Given the description of an element on the screen output the (x, y) to click on. 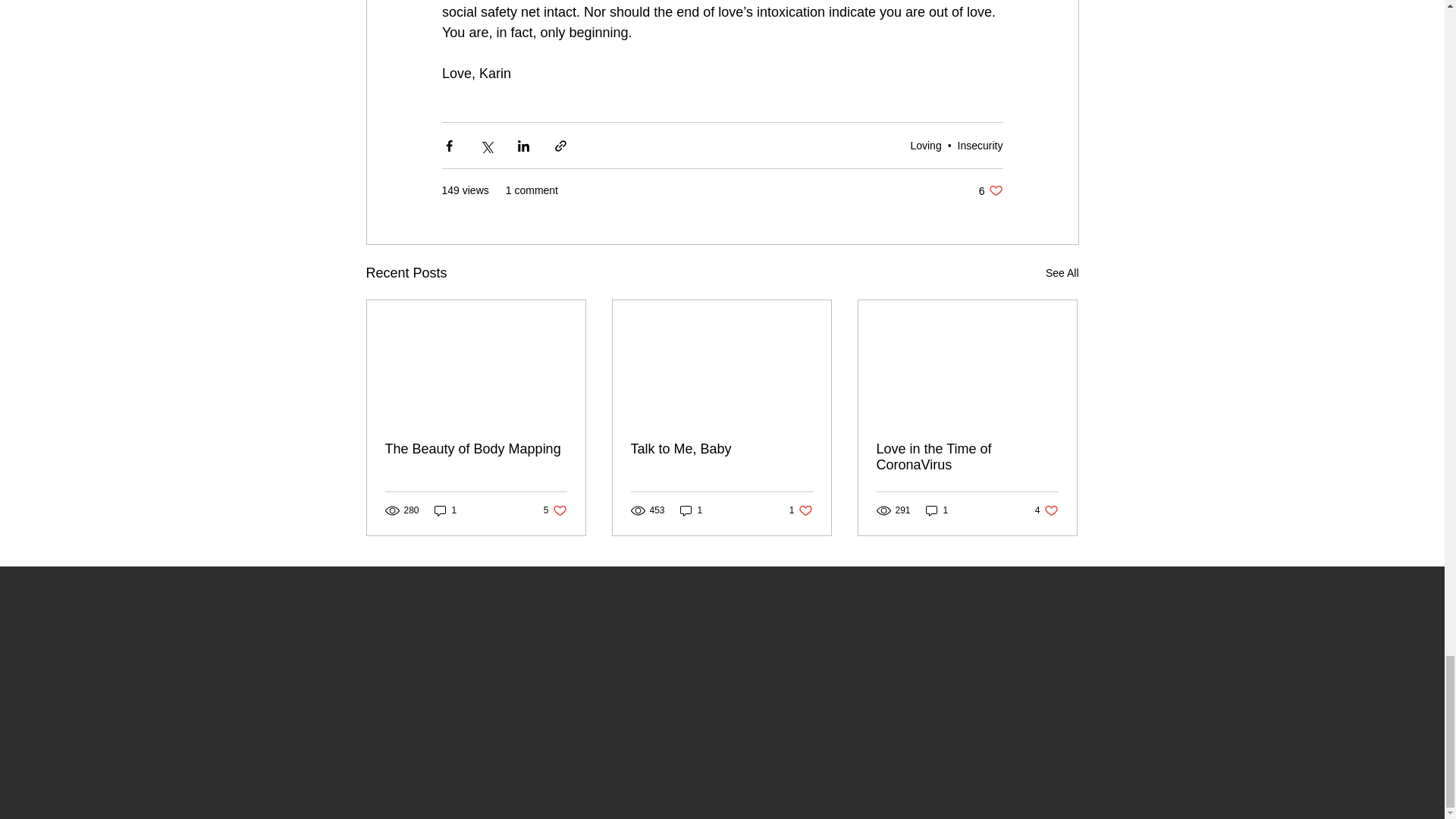
1 (691, 509)
1 (555, 509)
Love in the Time of CoronaVirus (937, 509)
See All (967, 457)
Insecurity (1046, 509)
1 (990, 190)
The Beauty of Body Mapping (1061, 273)
Talk to Me, Baby (980, 144)
Loving (445, 509)
